Given the description of an element on the screen output the (x, y) to click on. 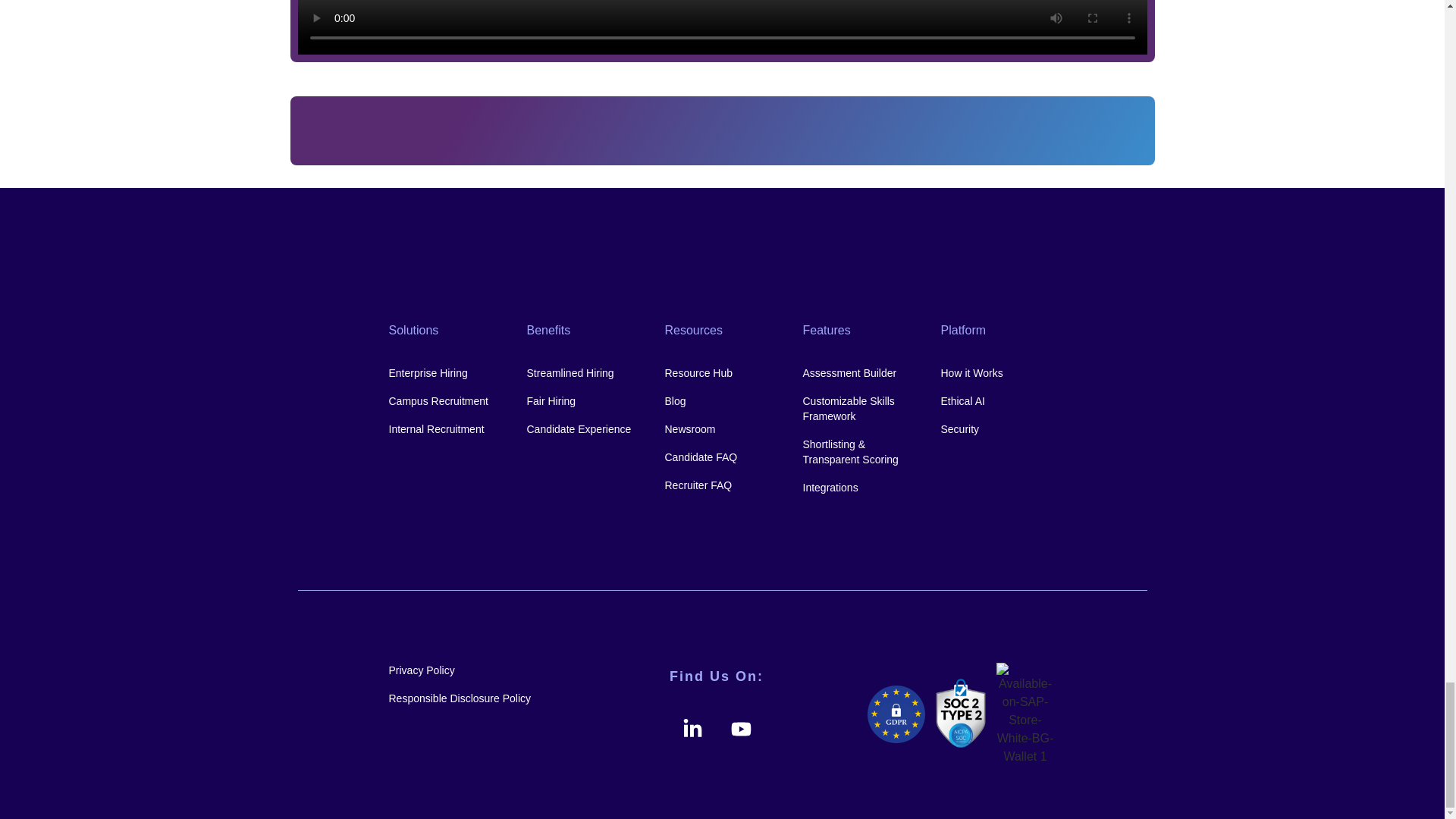
Internal Recruitment (445, 428)
How it Works (997, 372)
Integrations (859, 487)
Security (997, 428)
Candidate Experience (583, 428)
Privacy Policy (477, 670)
Candidate FAQ (720, 457)
Customizable Skills Framework (859, 408)
Streamlined Hiring (583, 372)
Enterprise Hiring (445, 372)
